Given the description of an element on the screen output the (x, y) to click on. 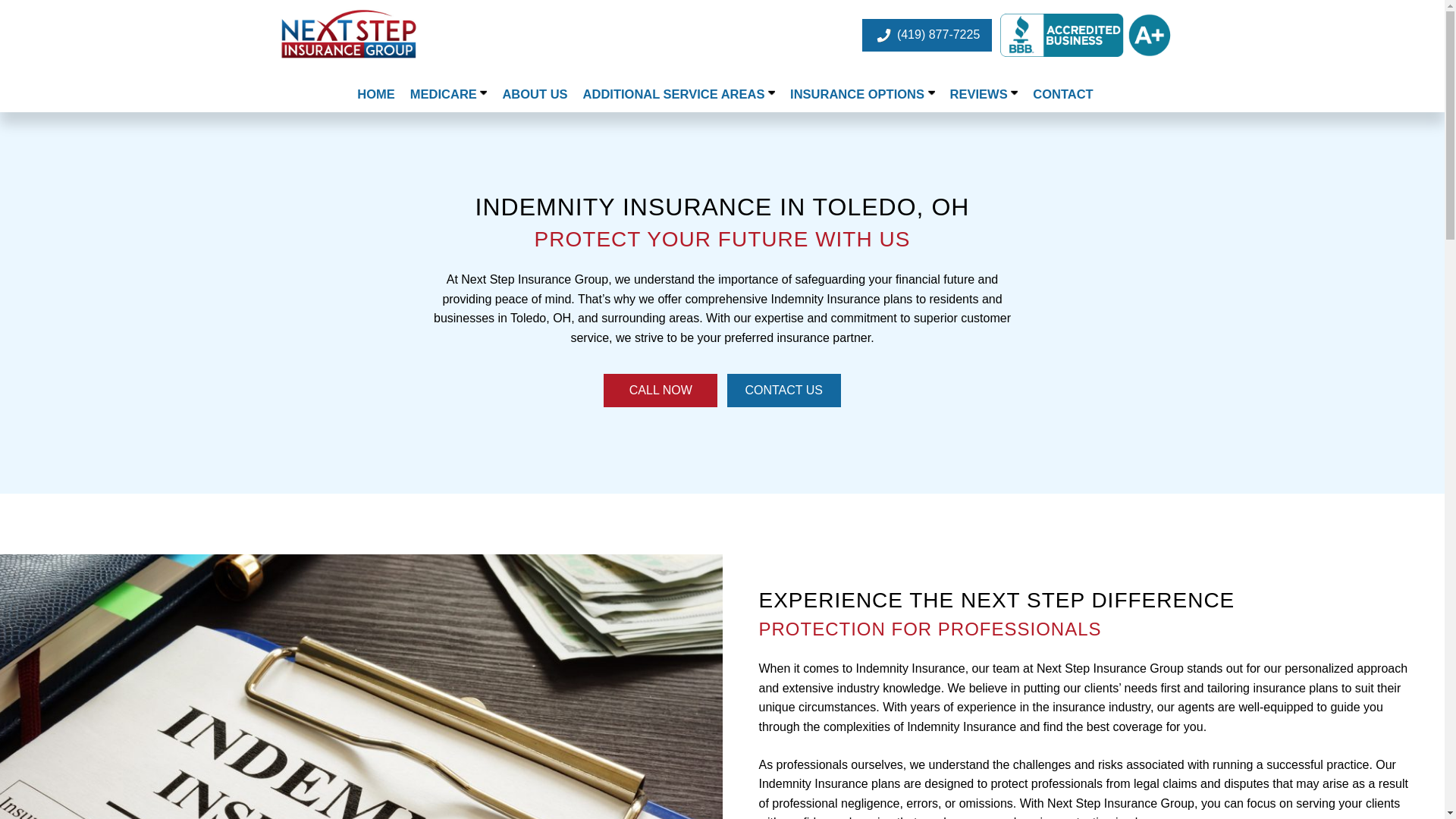
REVIEWS (984, 94)
INSURANCE OPTIONS (862, 94)
ADDITIONAL SERVICE AREAS (678, 94)
CONTACT (1062, 94)
Call Us (660, 390)
MEDICARE (449, 94)
 Contact Us (783, 390)
HOME (375, 94)
ABOUT US (533, 94)
